Given the description of an element on the screen output the (x, y) to click on. 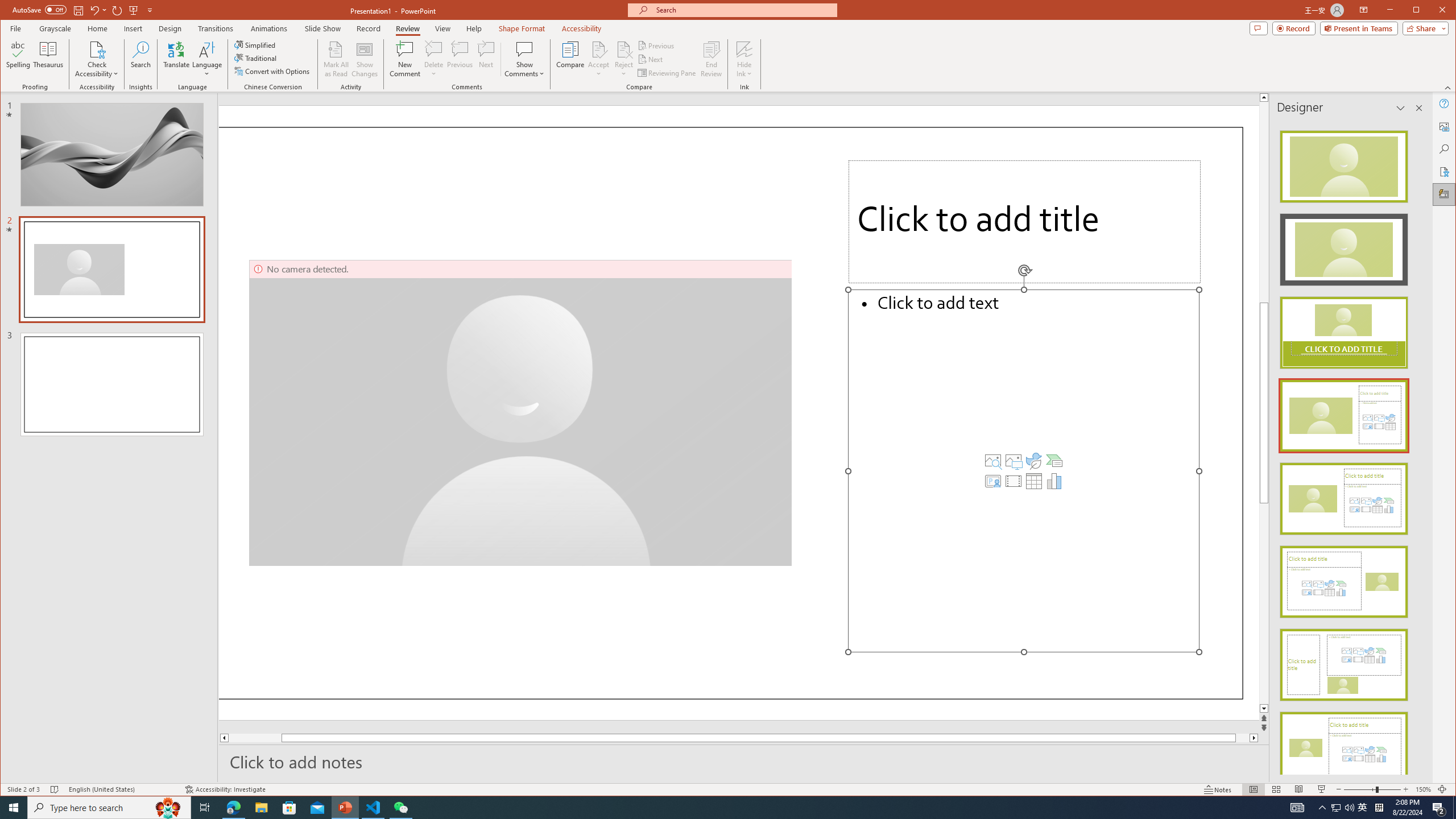
Reject Change (623, 48)
Accept (598, 59)
Class: NetUIScrollBar (1417, 447)
Next (651, 59)
Grayscale (55, 28)
Convert with Options... (272, 70)
